Given the description of an element on the screen output the (x, y) to click on. 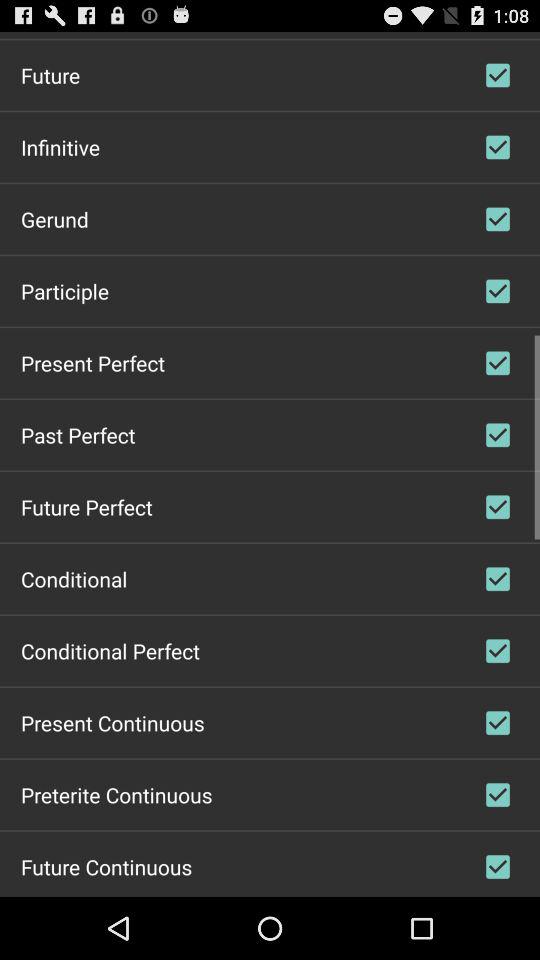
tap future perfect item (86, 506)
